Given the description of an element on the screen output the (x, y) to click on. 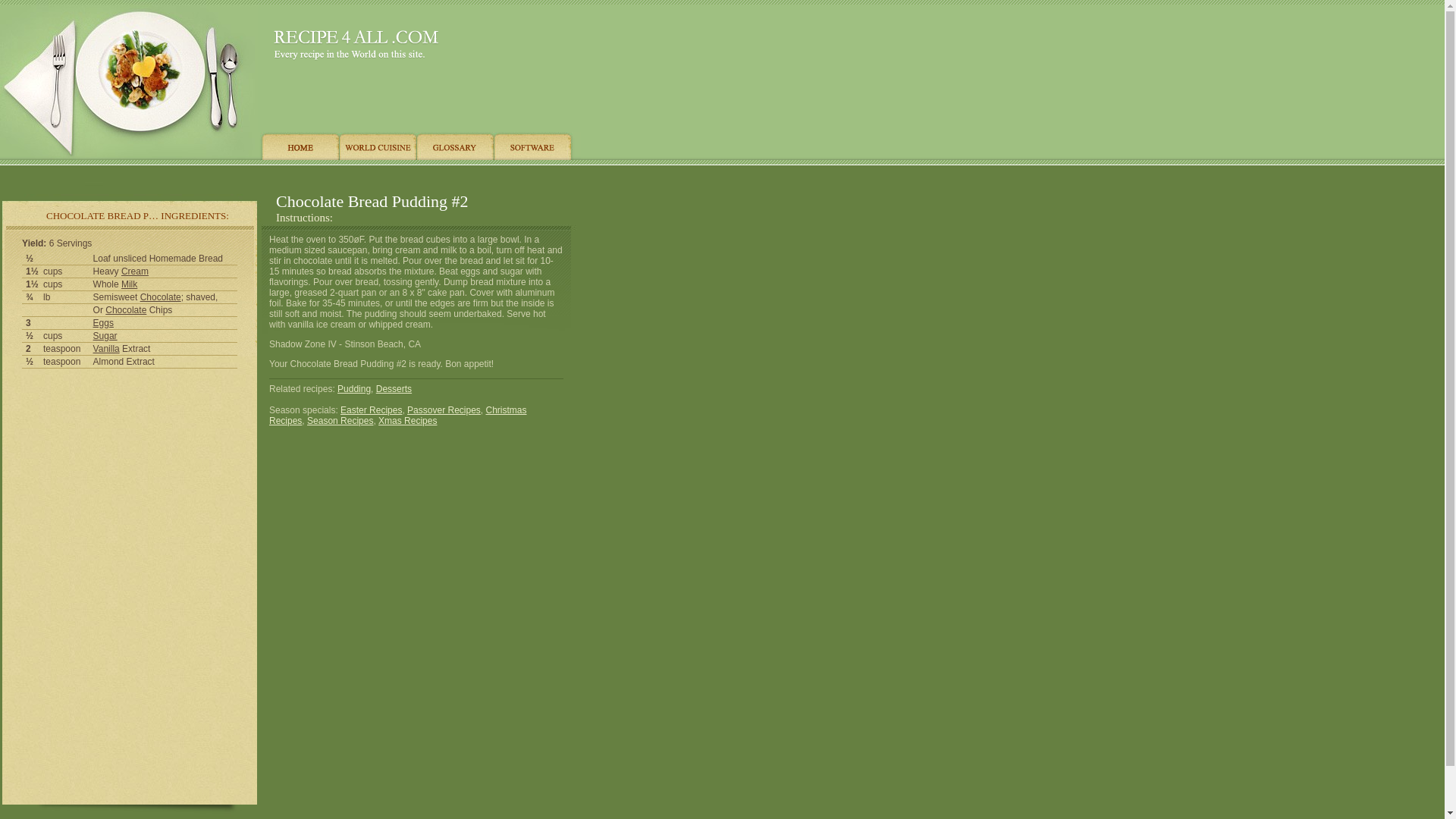
Advertisement (703, 336)
Milk (128, 284)
Christmas Recipes (398, 414)
Vanilla (106, 348)
Sugar (105, 335)
Advertisement (129, 481)
Eggs (103, 322)
Chocolate (125, 309)
Easter Recipes (370, 409)
Season Recipes (339, 420)
